Given the description of an element on the screen output the (x, y) to click on. 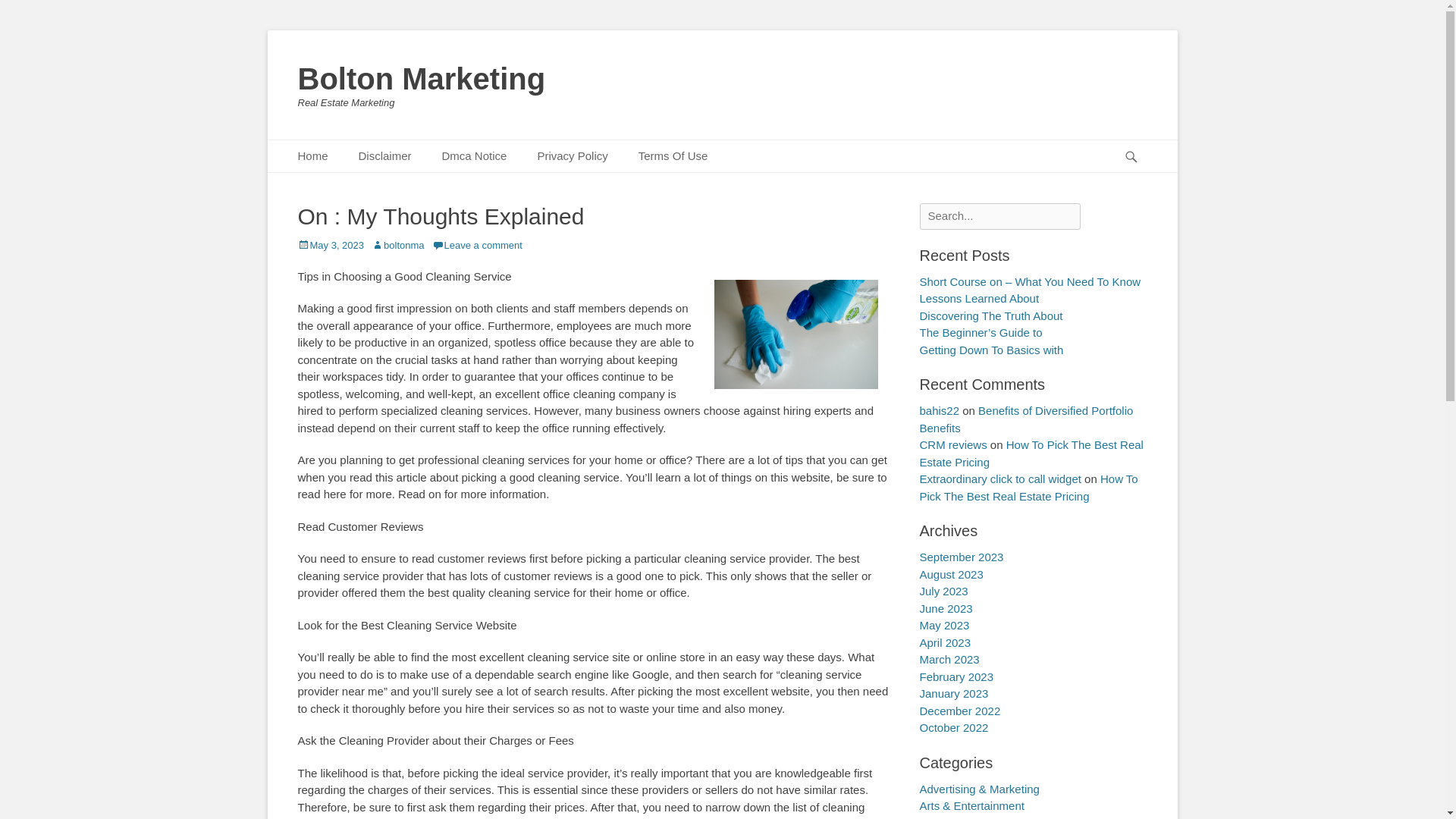
Search for: (999, 216)
boltonma (397, 244)
Getting Down To Basics with (990, 349)
Bolton Marketing (420, 78)
May 2023 (943, 625)
Discovering The Truth About (990, 315)
Disclaimer (384, 156)
Terms Of Use (673, 156)
Lessons Learned About (978, 297)
April 2023 (944, 642)
September 2023 (960, 556)
Benefits of Diversified Portfolio Benefits (1025, 419)
Search (24, 9)
Privacy Policy (572, 156)
